Given the description of an element on the screen output the (x, y) to click on. 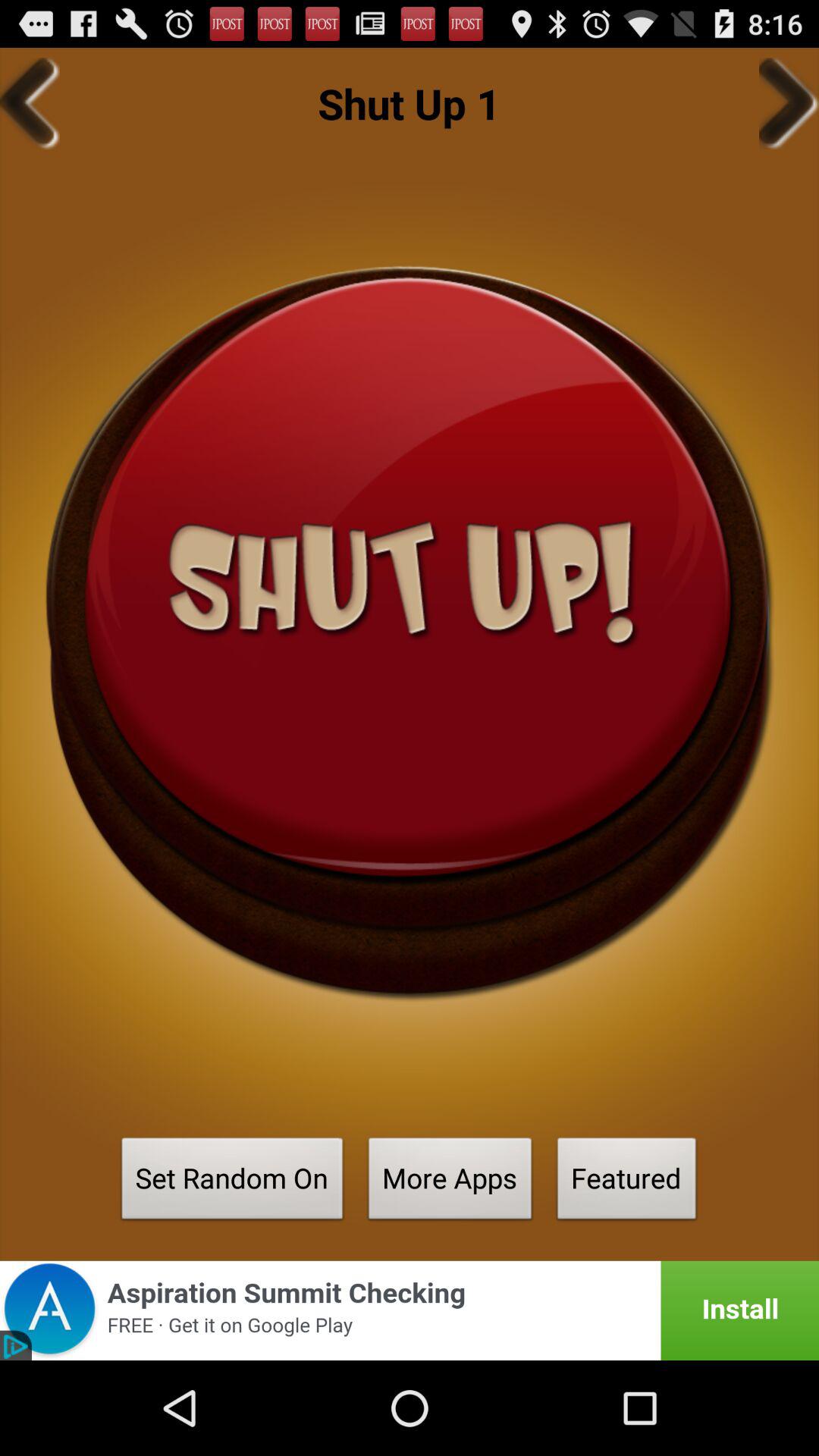
go to previous button (29, 103)
